Given the description of an element on the screen output the (x, y) to click on. 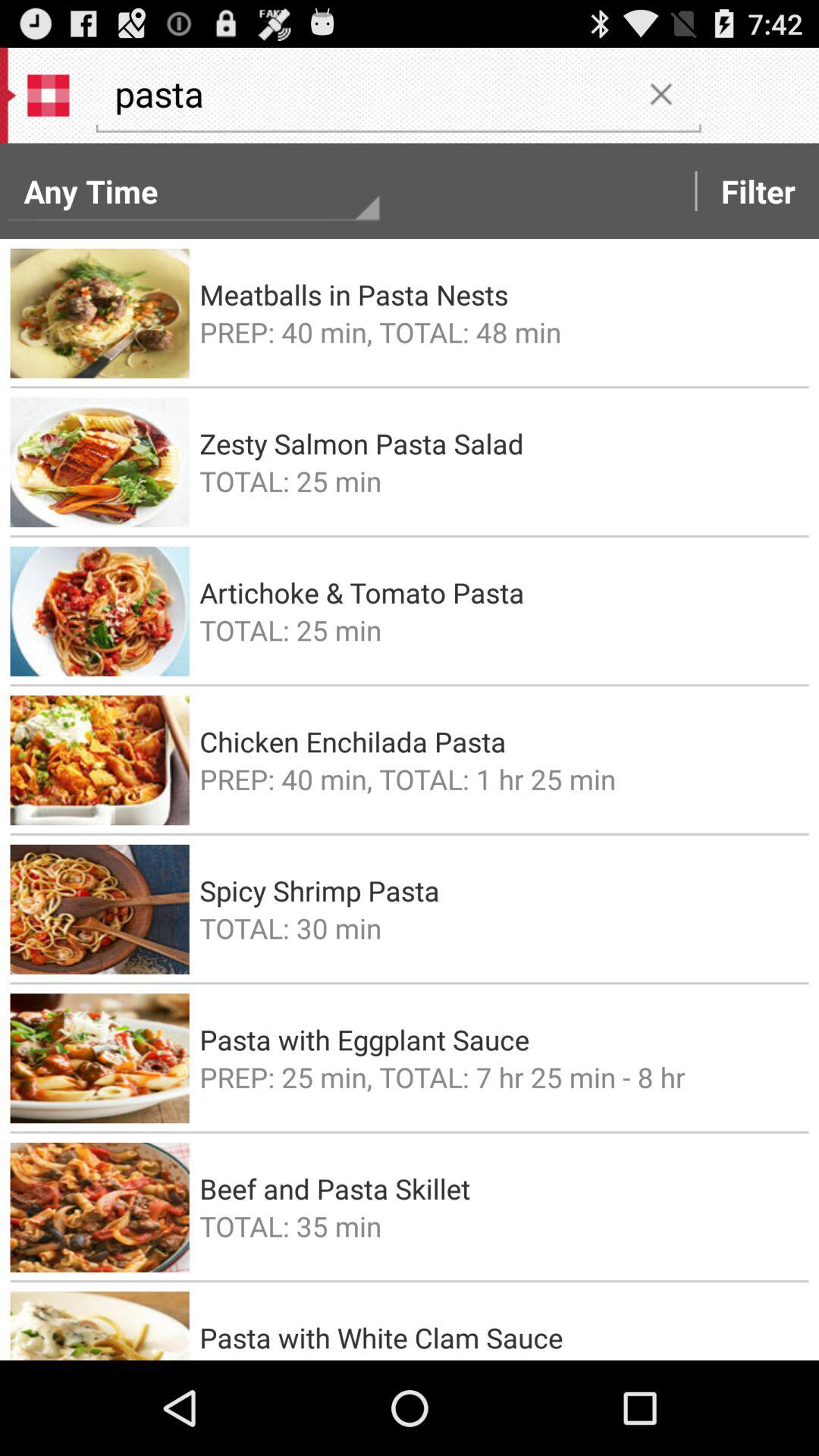
turn off the chicken enchilada pasta item (498, 741)
